Given the description of an element on the screen output the (x, y) to click on. 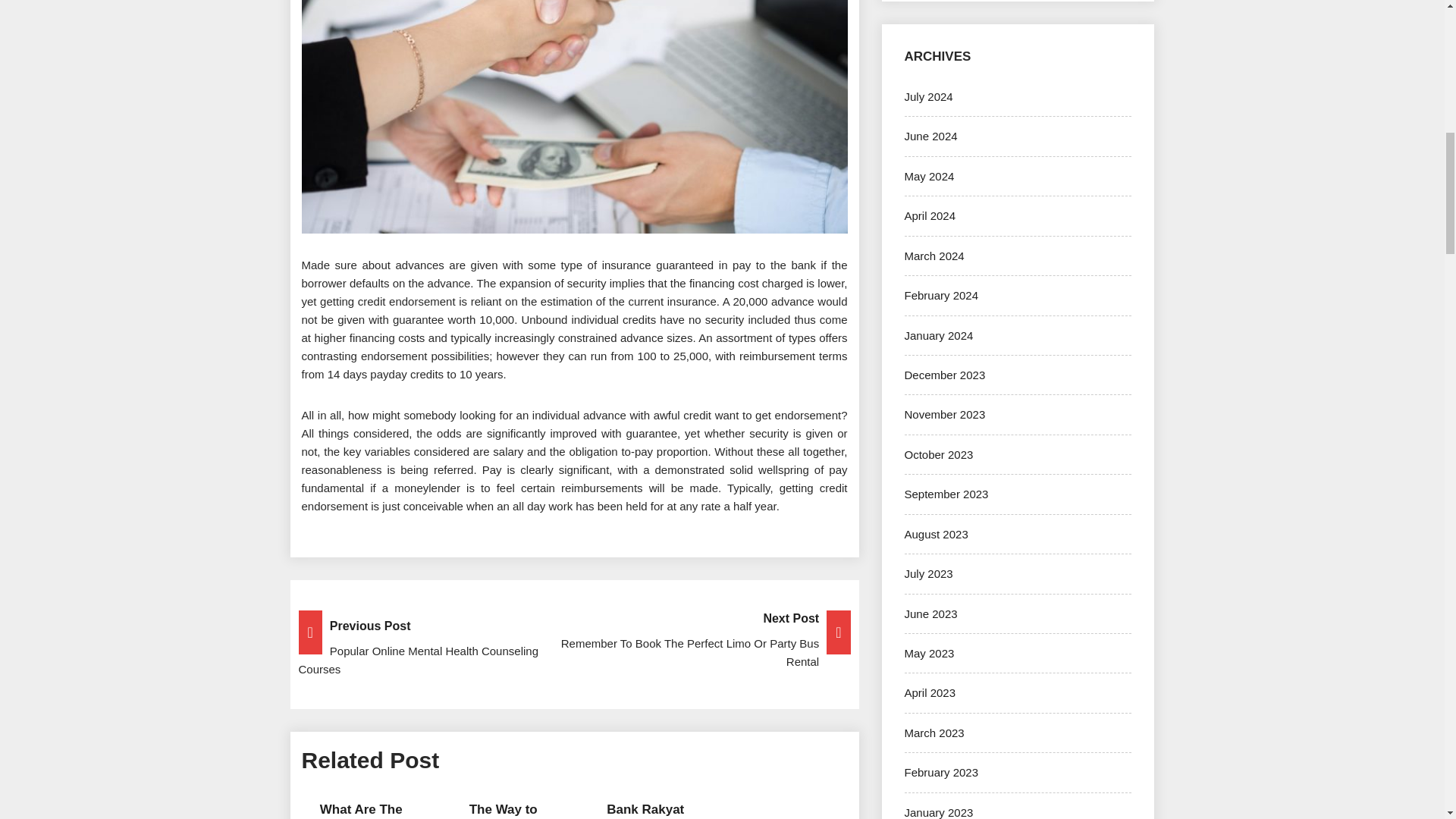
May 2023 (928, 653)
January 2024 (938, 335)
July 2023 (928, 573)
The Way to Recognize Forex Currency IQ Option Ideas Online (503, 810)
October 2023 (938, 454)
August 2023 (936, 533)
December 2023 (944, 374)
Bank Rakyat Personal Loan Fulfilling the Desires (645, 810)
March 2023 (933, 732)
November 2023 (944, 413)
